Given the description of an element on the screen output the (x, y) to click on. 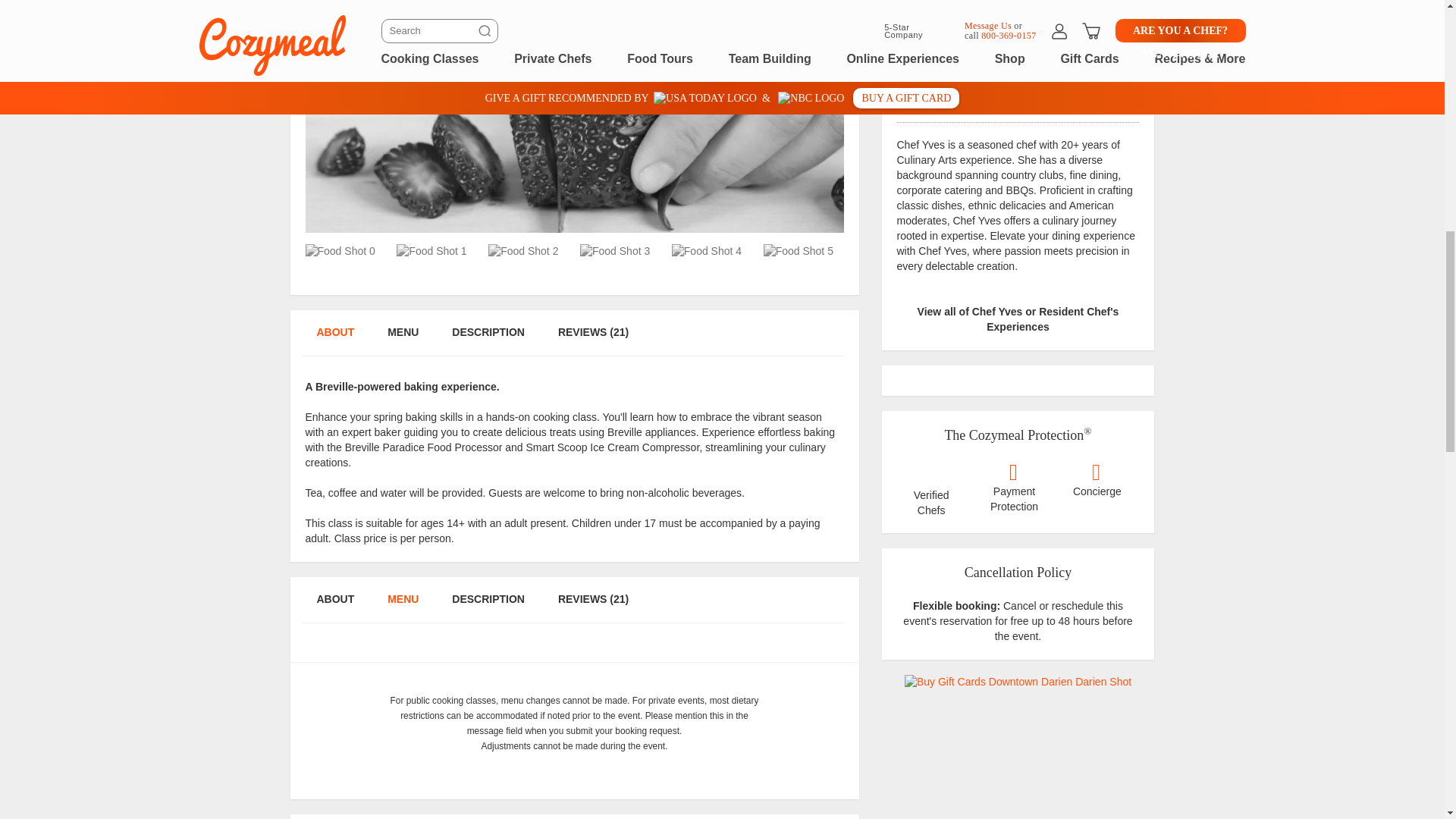
MENU (402, 607)
MENU (402, 340)
ABOUT (334, 607)
21 reviews (1017, 100)
Buy Gift Cards Downtown Darien Darien (1017, 682)
DESCRIPTION (488, 607)
DESCRIPTION (488, 340)
ABOUT (334, 340)
